Given the description of an element on the screen output the (x, y) to click on. 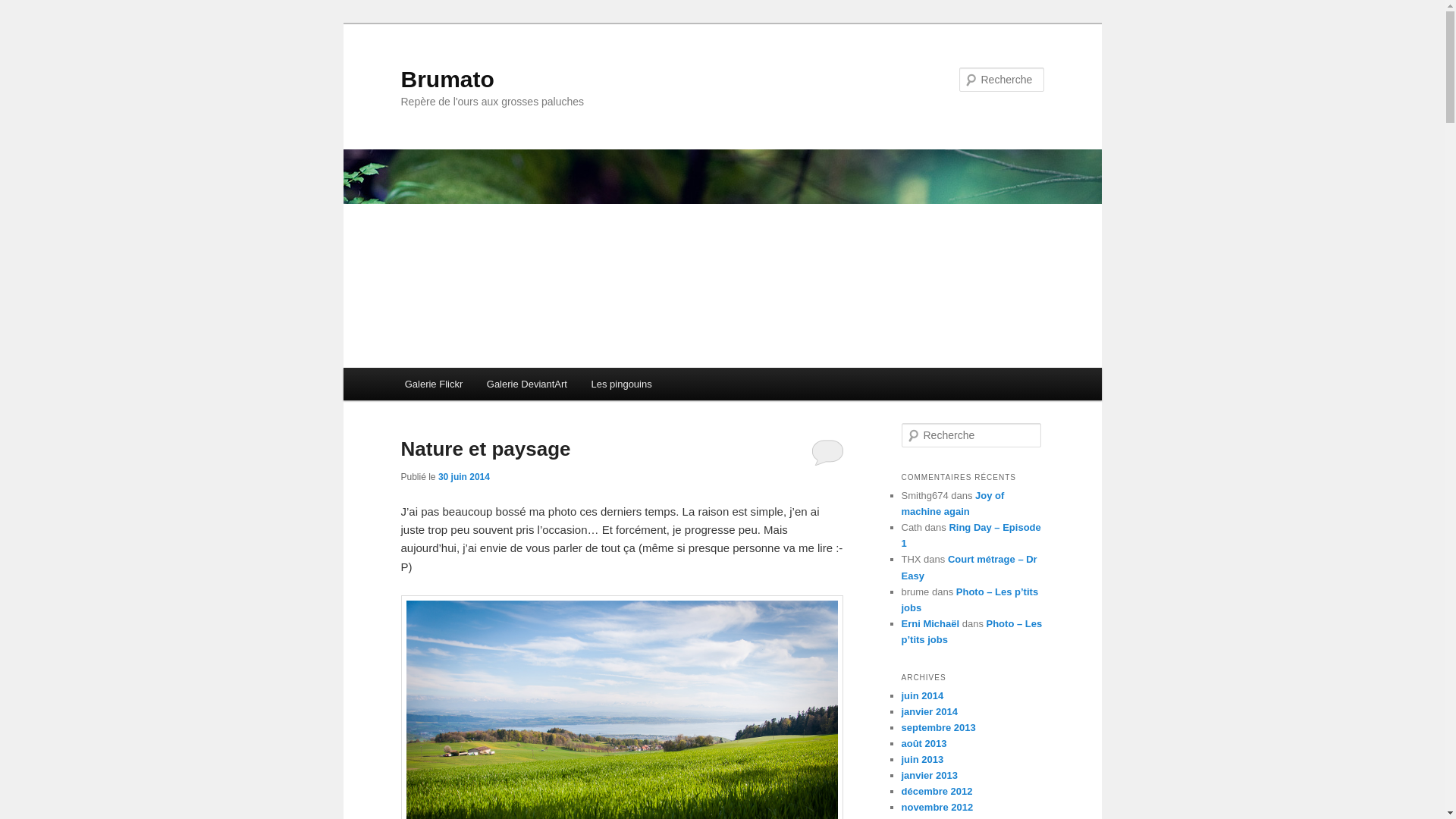
Les pingouins Element type: text (621, 383)
Galerie Flickr Element type: text (433, 383)
Galerie DeviantArt Element type: text (526, 383)
30 juin 2014 Element type: text (463, 476)
janvier 2014 Element type: text (928, 711)
Joy of machine again Element type: text (952, 503)
Nature et paysage Element type: text (485, 448)
Recherche Element type: text (29, 10)
septembre 2013 Element type: text (937, 727)
Recherche Element type: text (33, 8)
Aller au contenu principal Element type: text (414, 367)
juin 2014 Element type: text (921, 695)
juin 2013 Element type: text (921, 759)
janvier 2013 Element type: text (928, 775)
Brumato Element type: text (446, 78)
novembre 2012 Element type: text (936, 806)
